Given the description of an element on the screen output the (x, y) to click on. 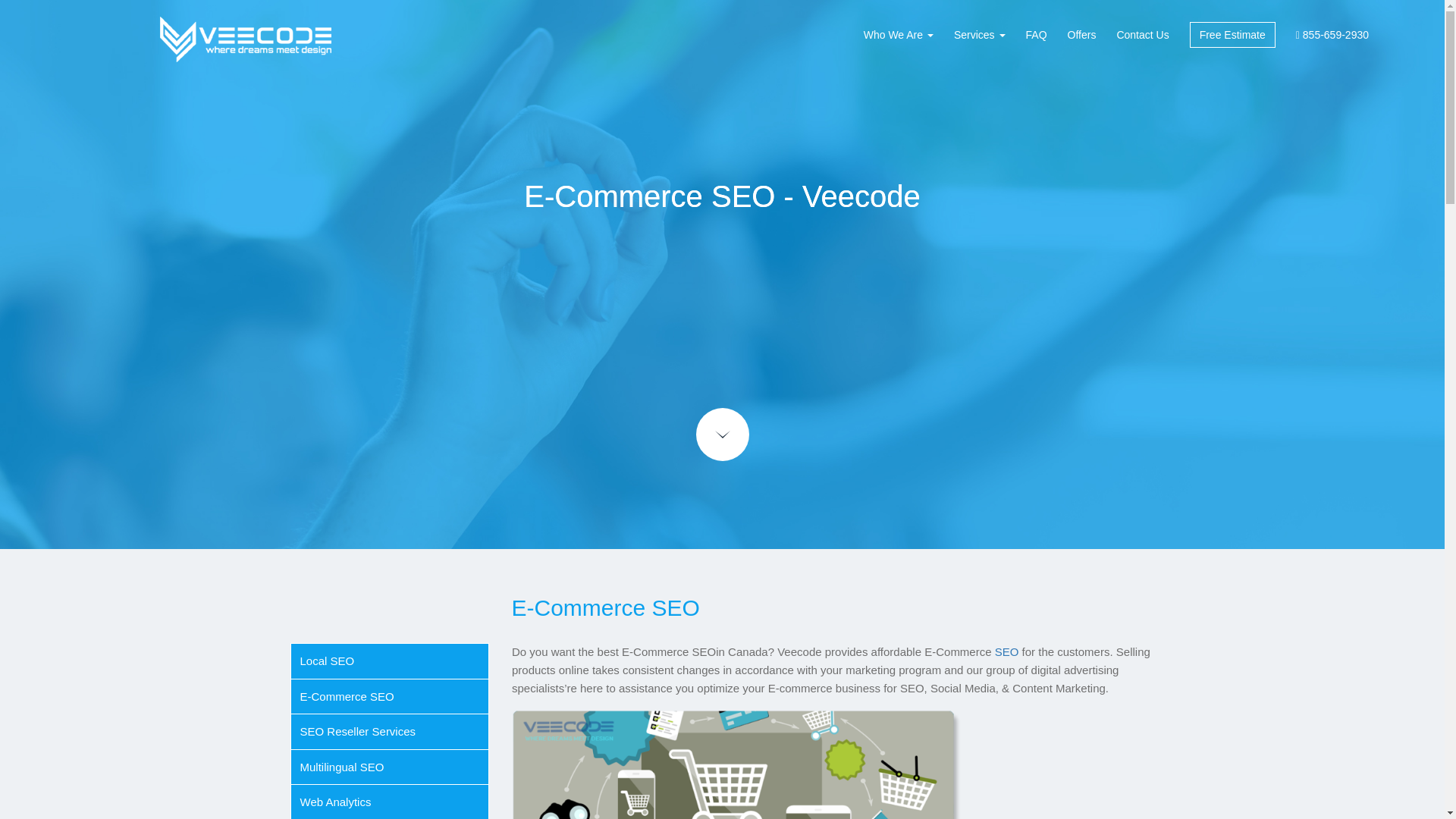
FAQ (1036, 34)
855-659-2930 (1331, 34)
SEO (1006, 651)
Services (979, 34)
Contact Us (1142, 34)
Services (979, 34)
Who We Are (898, 34)
Offers (1081, 34)
Multilingual SEO (341, 766)
SEO Reseller Services (357, 730)
Local SEO (327, 660)
E-Commerce SEO (346, 696)
Web Analytics (335, 801)
Free Estimate (1232, 34)
Who We Are (898, 34)
